Given the description of an element on the screen output the (x, y) to click on. 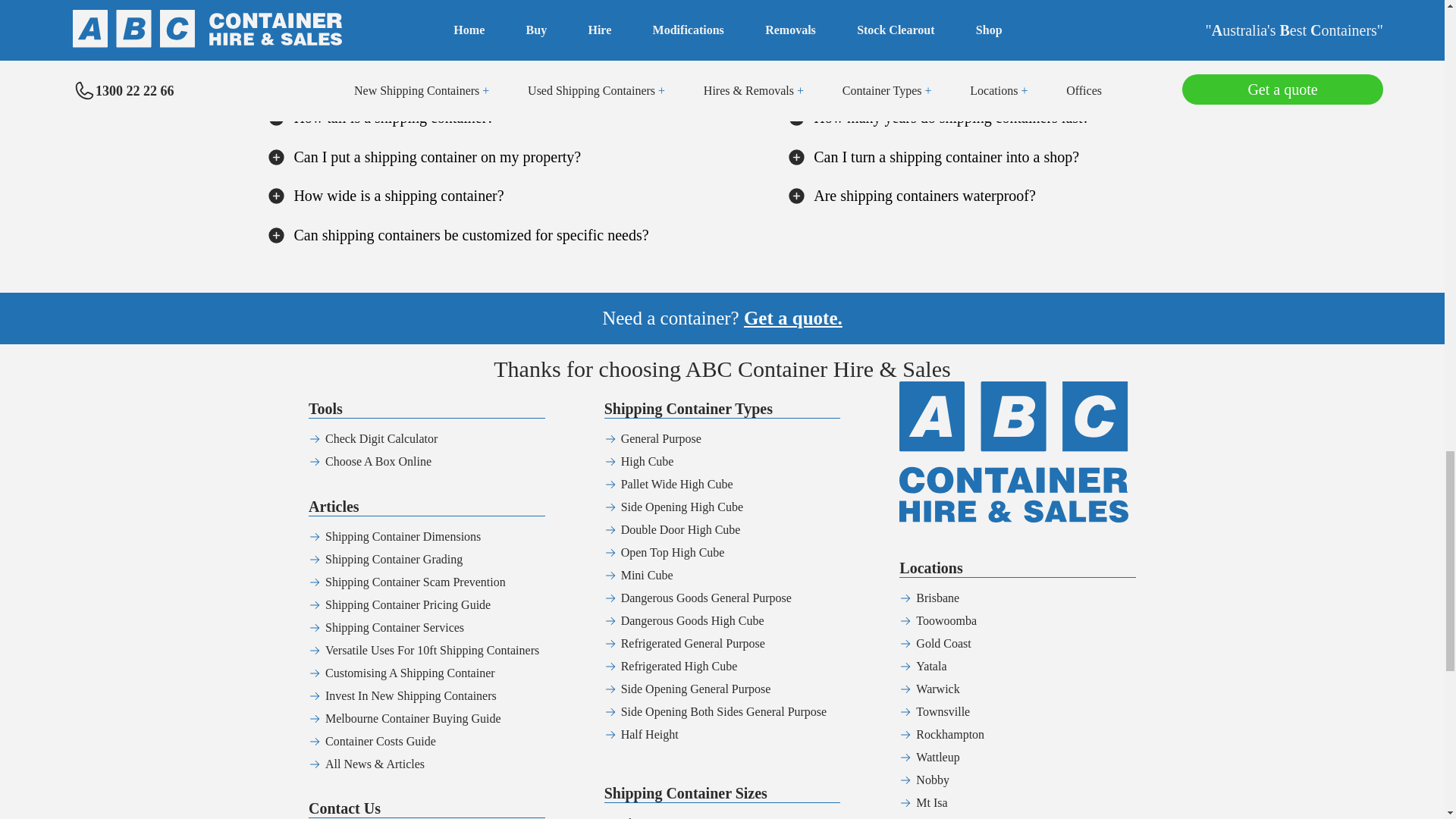
Check Digit Calculator (381, 438)
Choose A Box Online (377, 461)
Shipping Container Grading (393, 558)
Get a quote. (793, 317)
Shipping Container Dimensions (402, 535)
